Given the description of an element on the screen output the (x, y) to click on. 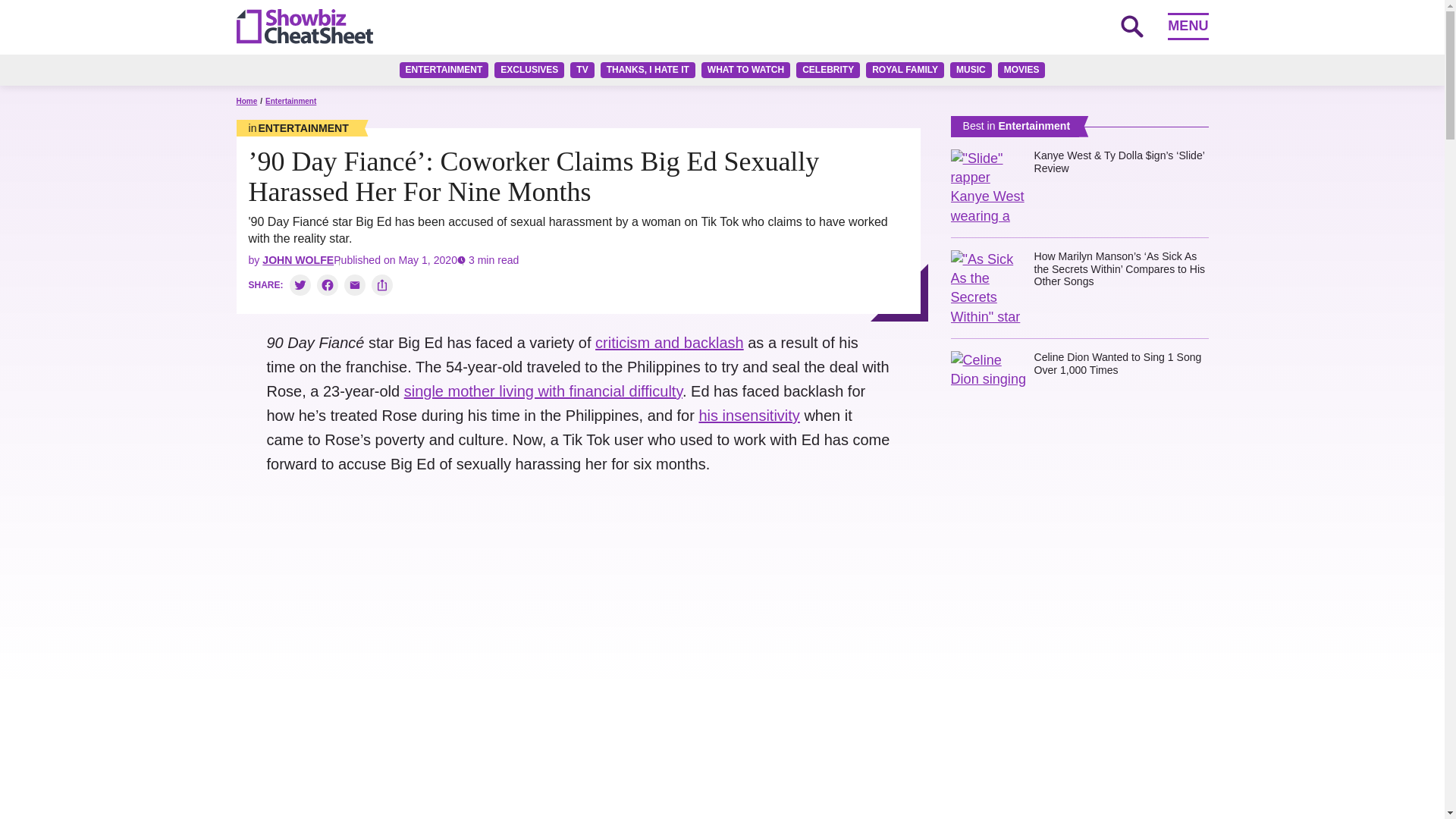
Entertainment (298, 127)
Share via email: (354, 284)
MENU (1187, 26)
JOHN WOLFE (297, 259)
EXCLUSIVES (529, 69)
Copy link and share:  (382, 284)
Share on Facebook: (327, 284)
TV (582, 69)
Share on Twitter: (300, 284)
Copy link (382, 284)
Entertainment (289, 101)
MUSIC (970, 69)
ENTERTAINMENT (443, 69)
Home (246, 101)
